Given the description of an element on the screen output the (x, y) to click on. 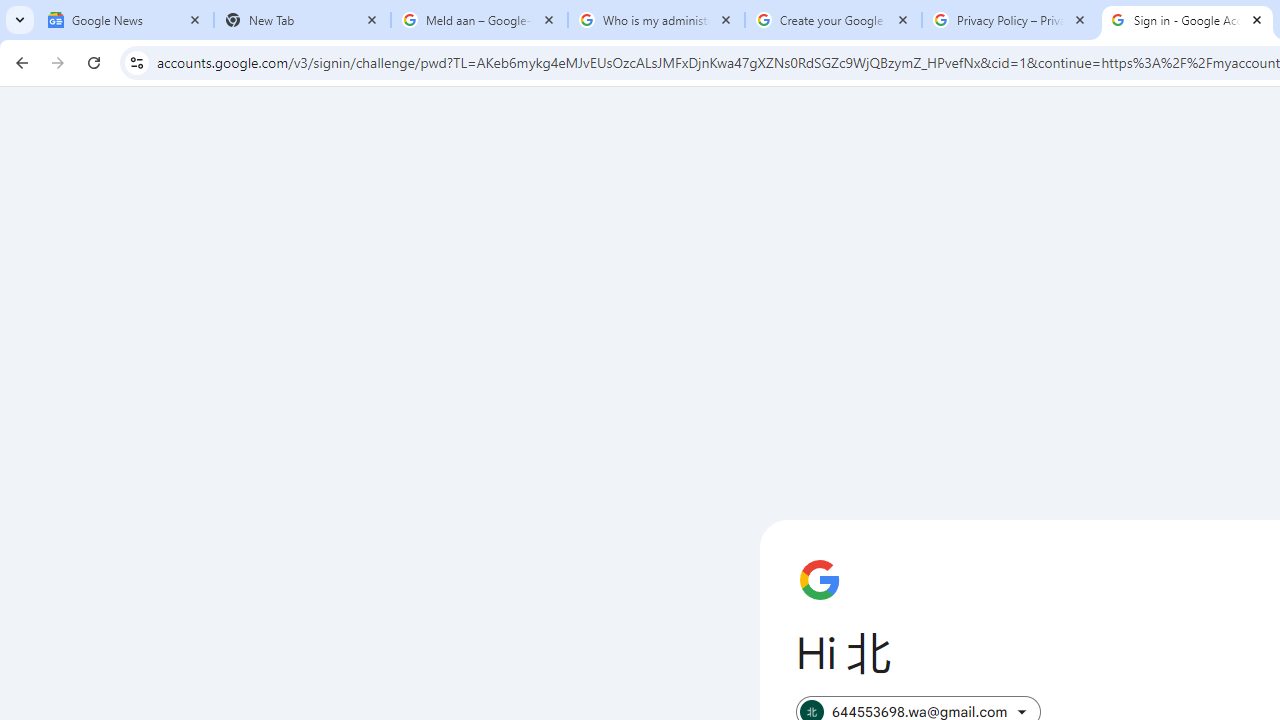
Who is my administrator? - Google Account Help (656, 20)
New Tab (301, 20)
Create your Google Account (833, 20)
Google News (125, 20)
